Given the description of an element on the screen output the (x, y) to click on. 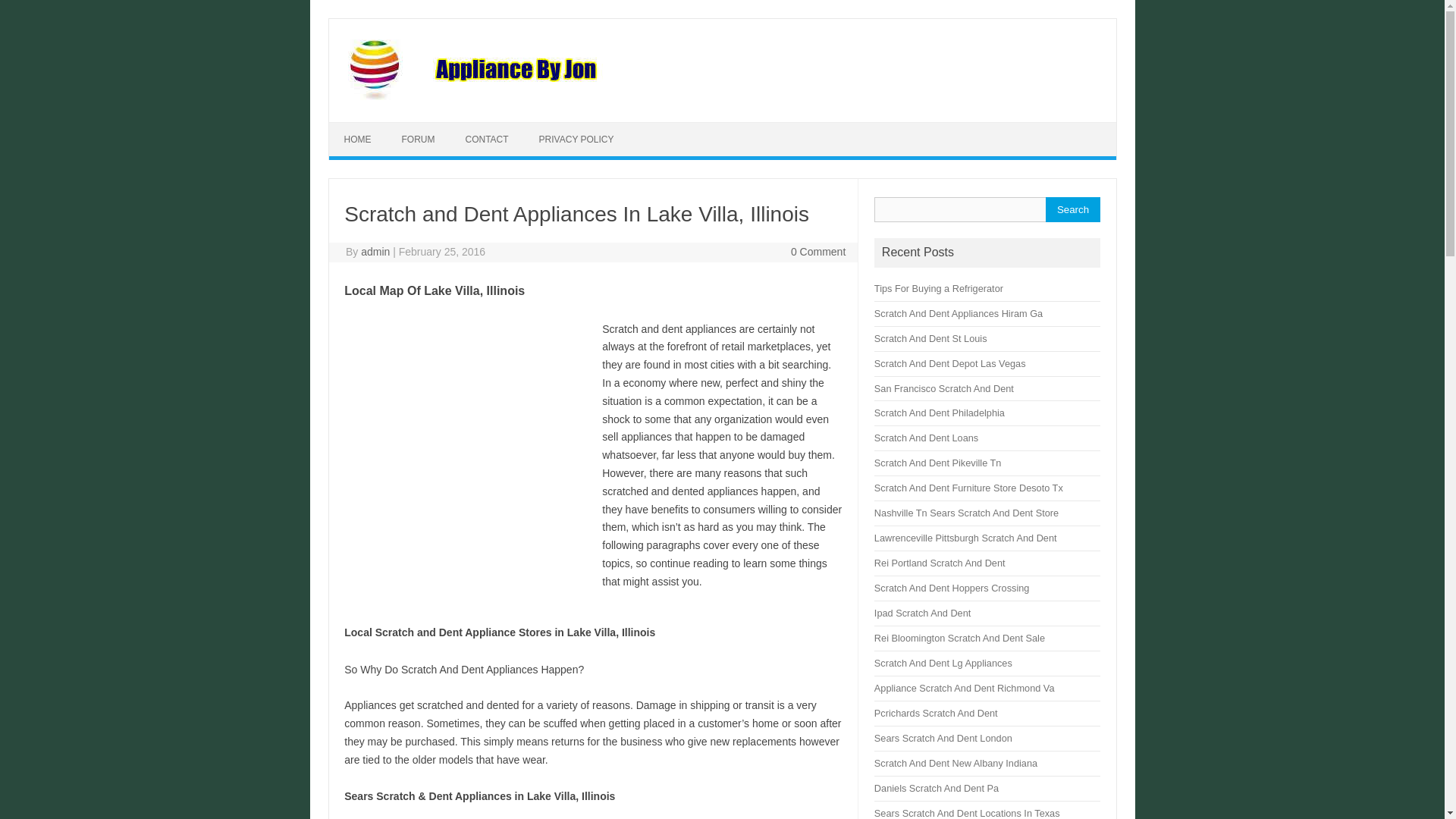
Scratch And Dent Loans (926, 437)
Search (1072, 209)
0 Comment (817, 251)
Appliance Scratch And Dent Richmond Va (964, 687)
Pcrichards Scratch And Dent (936, 713)
Scratch And Dent Depot Las Vegas (950, 363)
PRIVACY POLICY (576, 139)
Appliance By Jon (568, 96)
Search (1072, 209)
Daniels Scratch And Dent Pa (936, 787)
Scratch And Dent Lg Appliances (943, 663)
Scratch And Dent New Albany Indiana (955, 763)
CONTACT (486, 139)
Sears Scratch And Dent Locations In Texas (967, 813)
Tips For Buying a Refrigerator (939, 288)
